Given the description of an element on the screen output the (x, y) to click on. 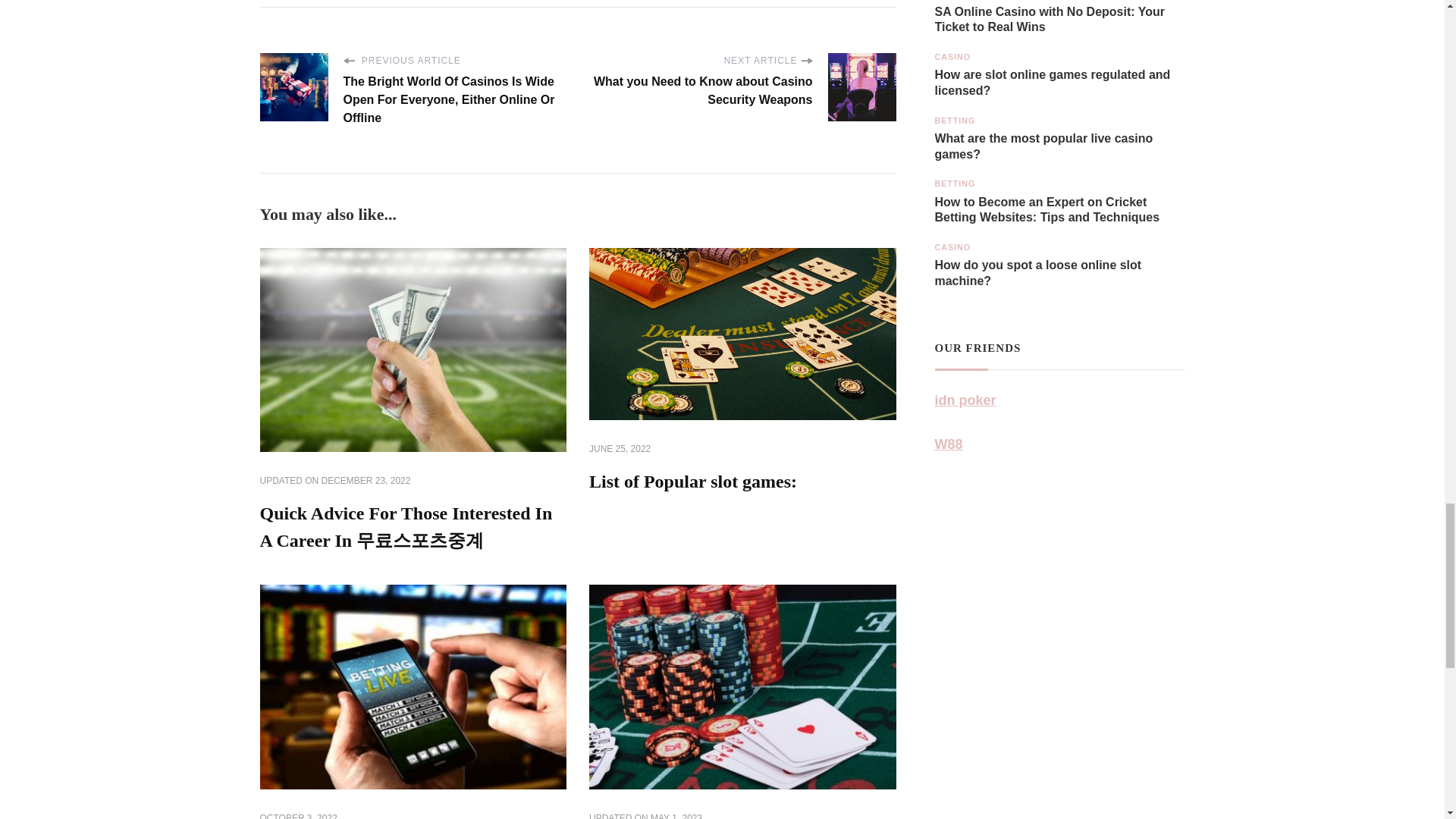
OCTOBER 3, 2022 (297, 815)
MAY 1, 2023 (675, 815)
List of Popular slot games: (692, 481)
JUNE 25, 2022 (619, 449)
DECEMBER 23, 2022 (365, 481)
